Given the description of an element on the screen output the (x, y) to click on. 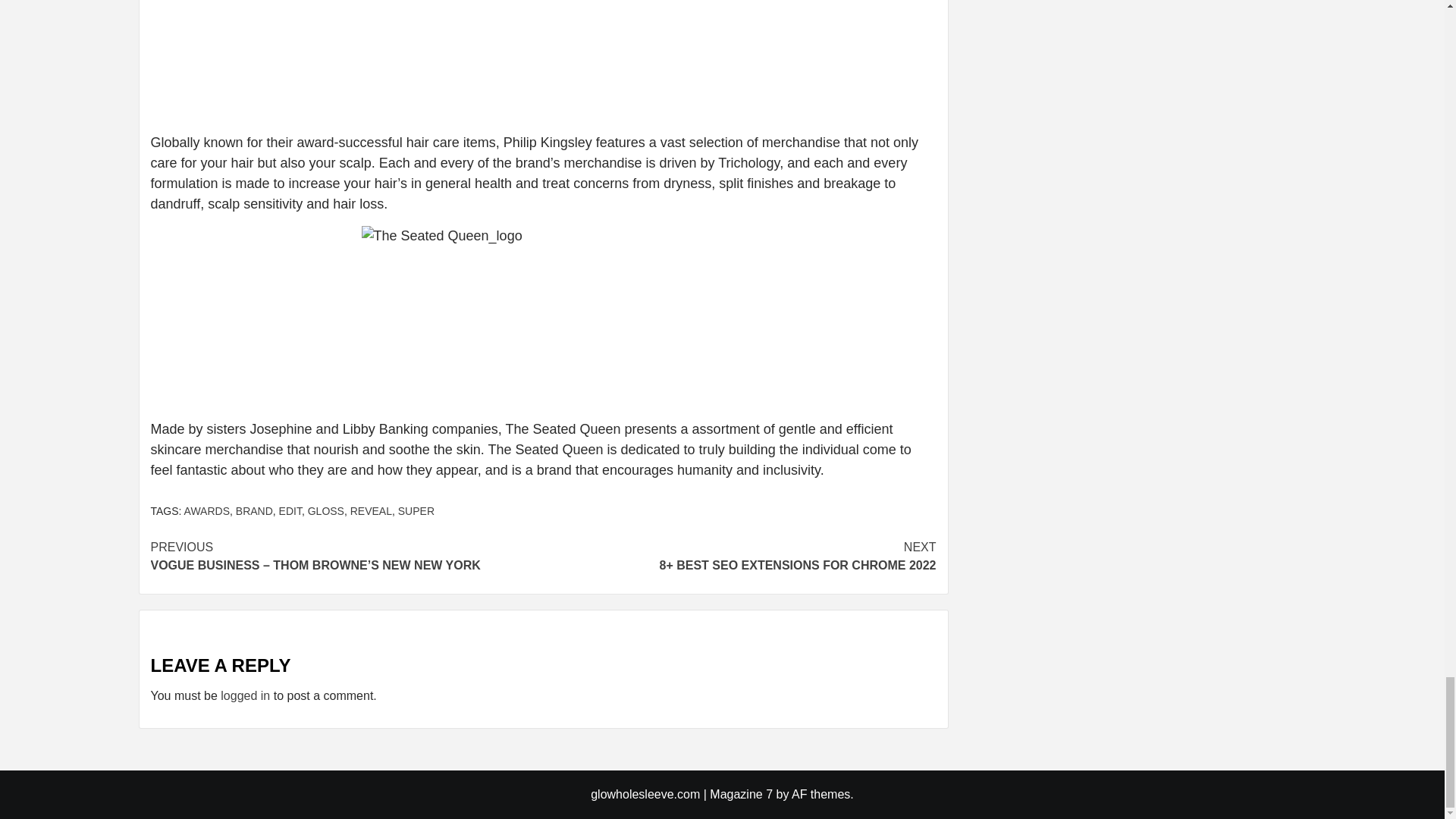
logged in (245, 695)
REVEAL (370, 510)
EDIT (290, 510)
GLOSS (325, 510)
AWARDS (207, 510)
BRAND (254, 510)
SUPER (415, 510)
